Given the description of an element on the screen output the (x, y) to click on. 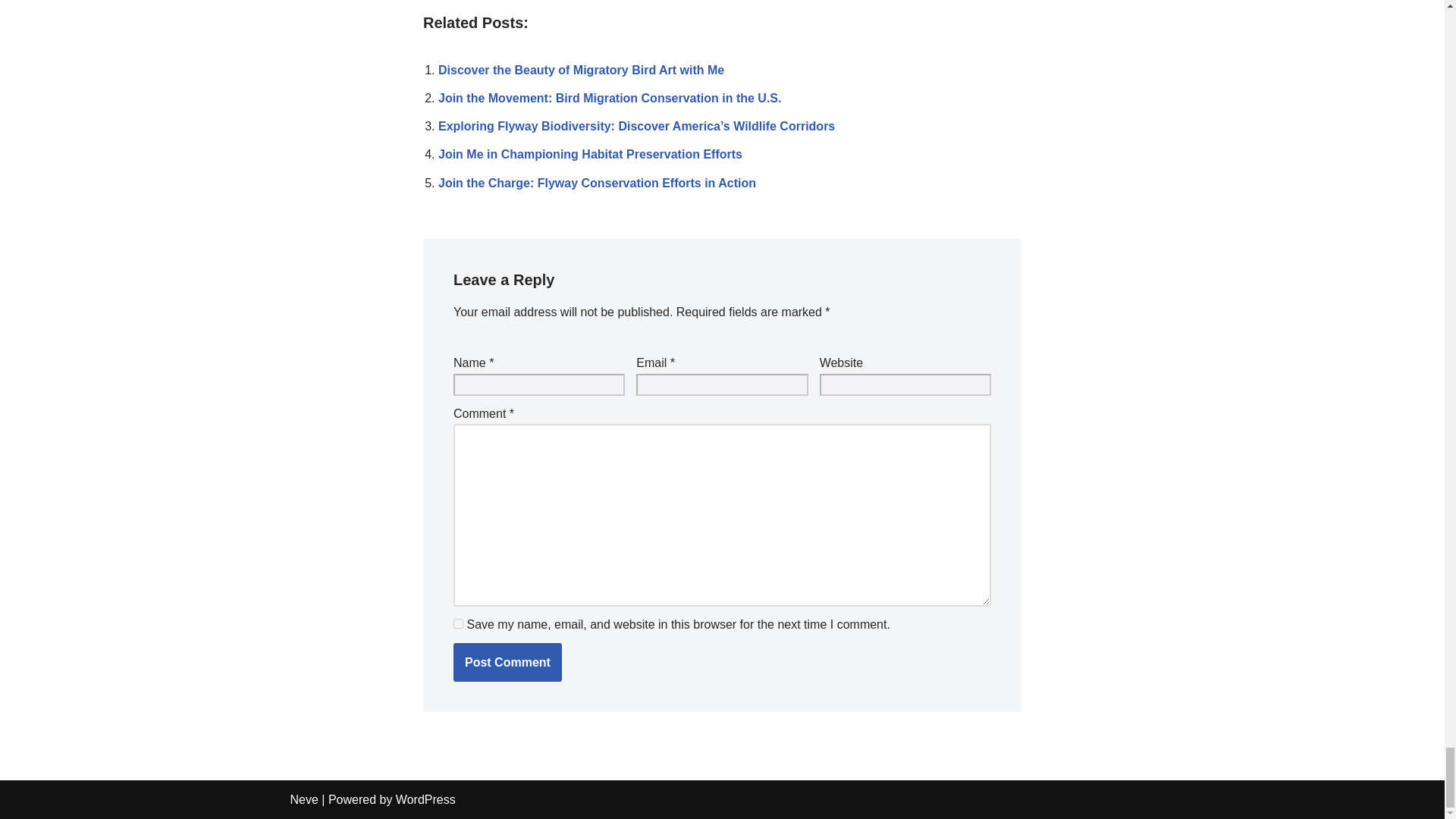
Discover the Beauty of Migratory Bird Art with Me (580, 69)
Join the Charge: Flyway Conservation Efforts in Action (596, 182)
Join the Charge: Flyway Conservation Efforts in Action (596, 182)
Join the Movement: Bird Migration Conservation in the U.S. (609, 97)
Join Me in Championing Habitat Preservation Efforts (590, 154)
Discover the Beauty of Migratory Bird Art with Me (580, 69)
Post Comment (507, 662)
Join the Movement: Bird Migration Conservation in the U.S. (609, 97)
yes (457, 623)
Post Comment (507, 662)
Join Me in Championing Habitat Preservation Efforts (590, 154)
